Given the description of an element on the screen output the (x, y) to click on. 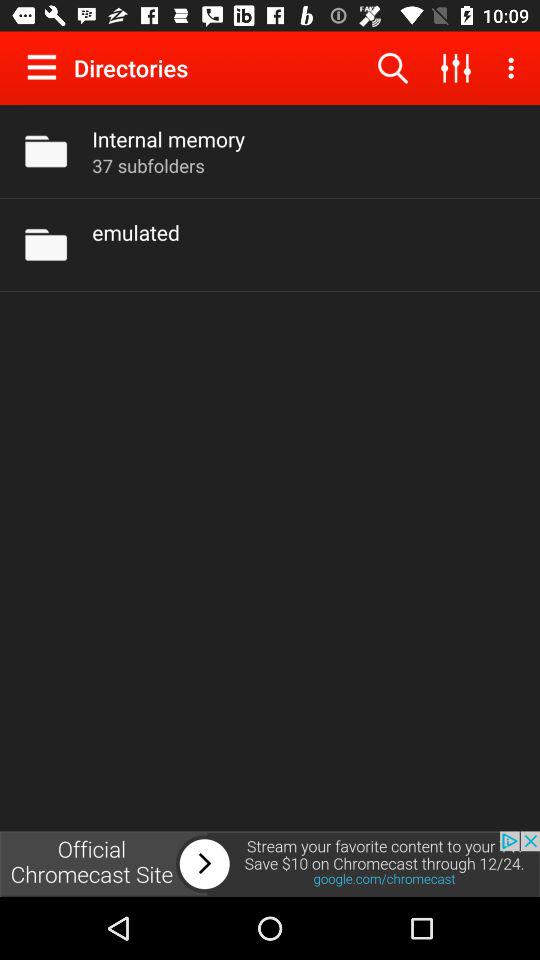
open advertisement for chromecast (270, 864)
